Given the description of an element on the screen output the (x, y) to click on. 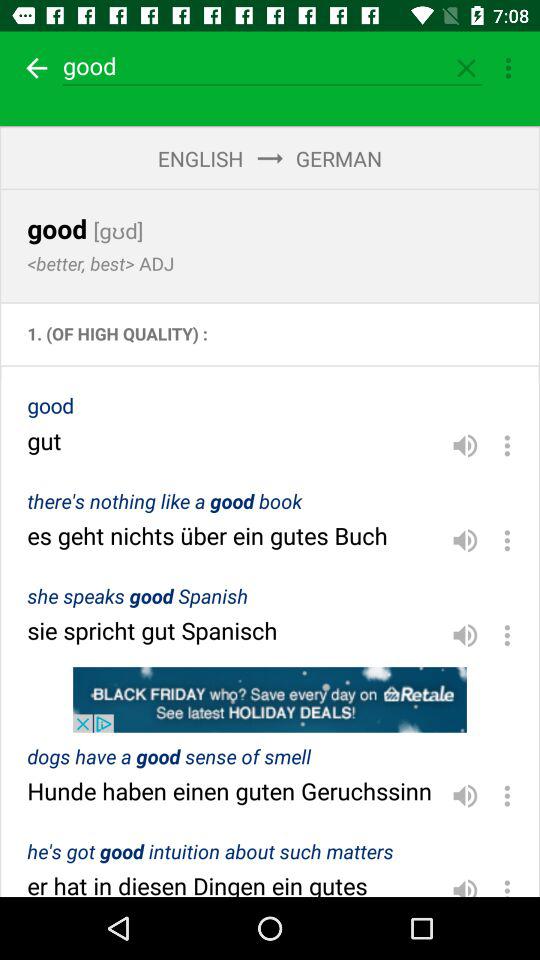
settings (507, 445)
